Given the description of an element on the screen output the (x, y) to click on. 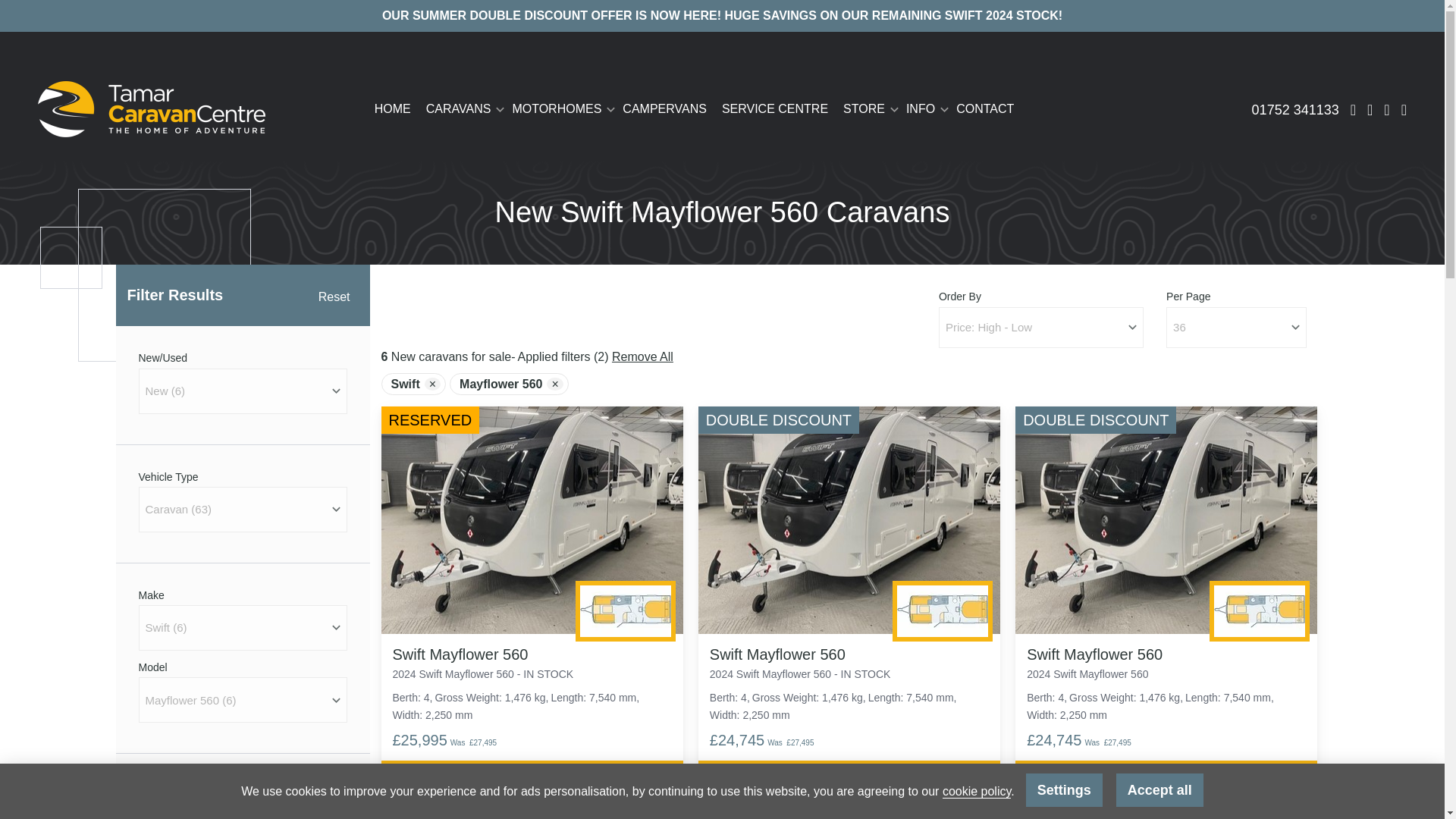
STORE (866, 108)
Remove All (641, 356)
HOME (396, 108)
CARAVANS (462, 108)
Reset (334, 297)
CAMPERVANS (664, 108)
MOTORHOMES (558, 108)
CONTACT (981, 108)
01752 341133 (1295, 109)
INFO (923, 108)
SERVICE CENTRE (774, 108)
